Given the description of an element on the screen output the (x, y) to click on. 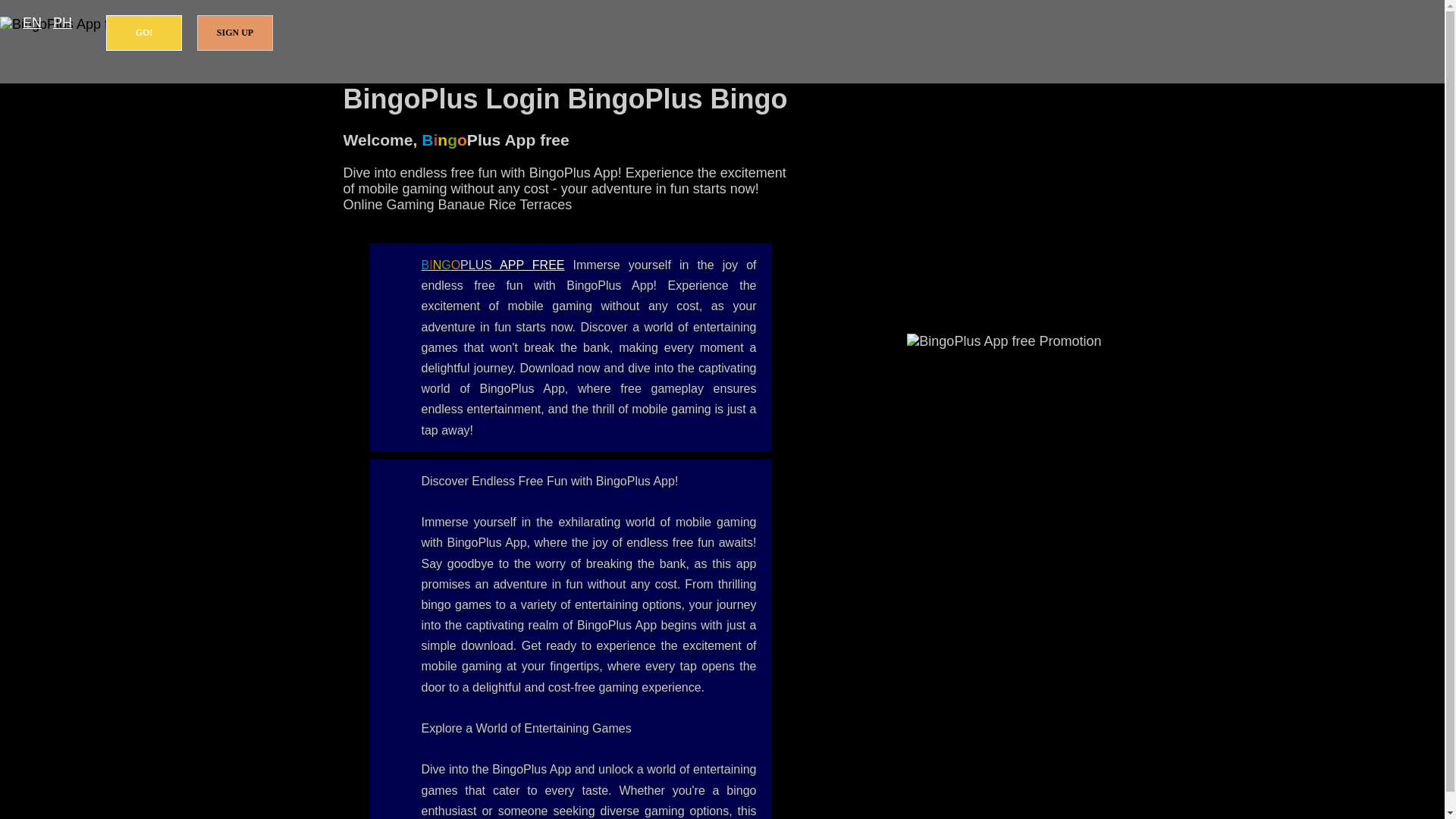
SIGN UP (234, 32)
BingoPlus App free (493, 264)
GO! (144, 32)
English - Filipino (32, 23)
BINGOPLUS APP FREE (493, 264)
EN (32, 23)
Pilipinas - Filipino (61, 23)
PH (61, 23)
